Given the description of an element on the screen output the (x, y) to click on. 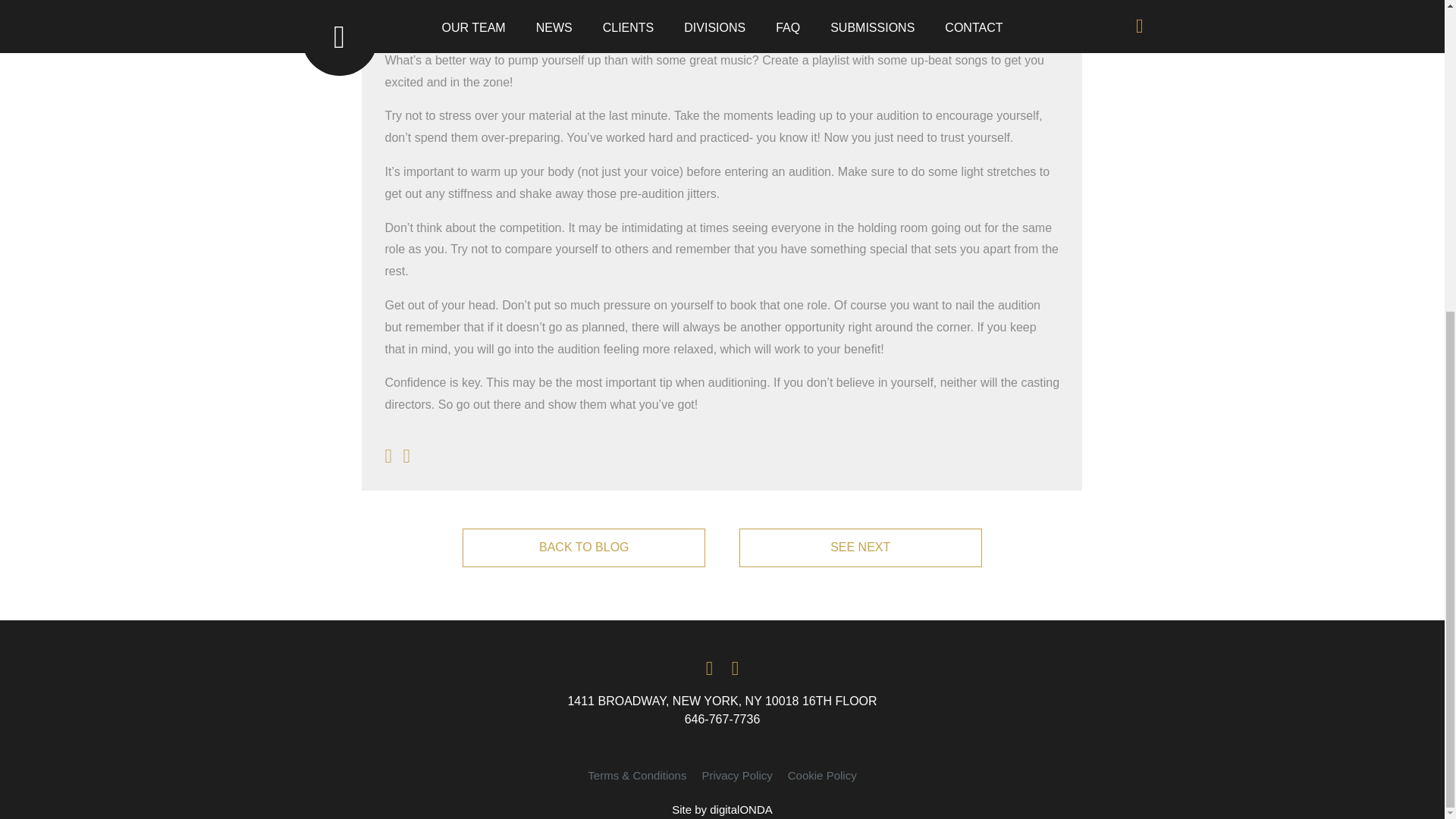
SEE NEXT (860, 547)
BACK TO BLOG (583, 547)
Privacy Policy (736, 775)
digitalONDA (741, 809)
Cookie Policy (822, 775)
